Given the description of an element on the screen output the (x, y) to click on. 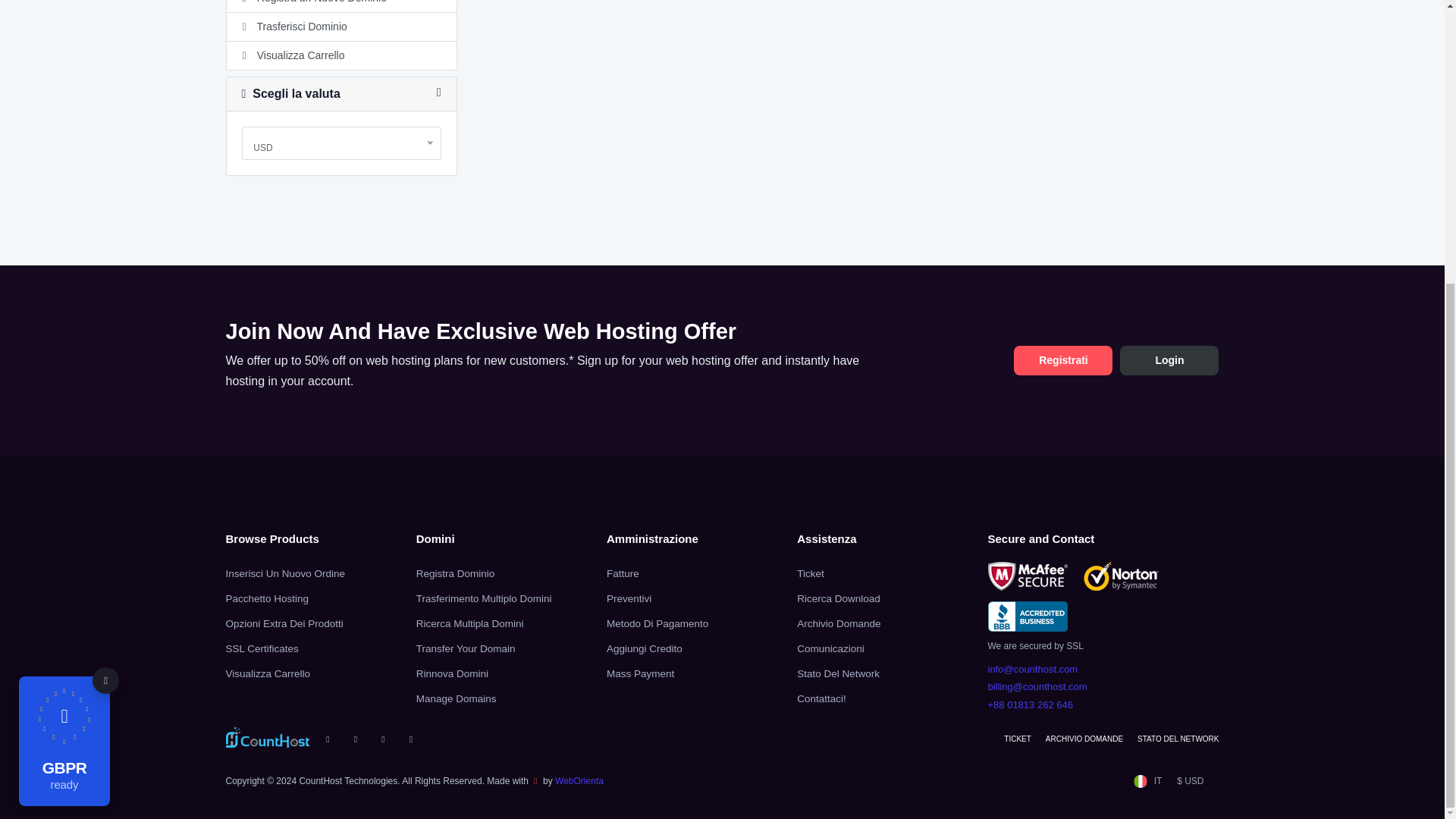
  Registra un Nuovo Dominio (340, 6)
